Given the description of an element on the screen output the (x, y) to click on. 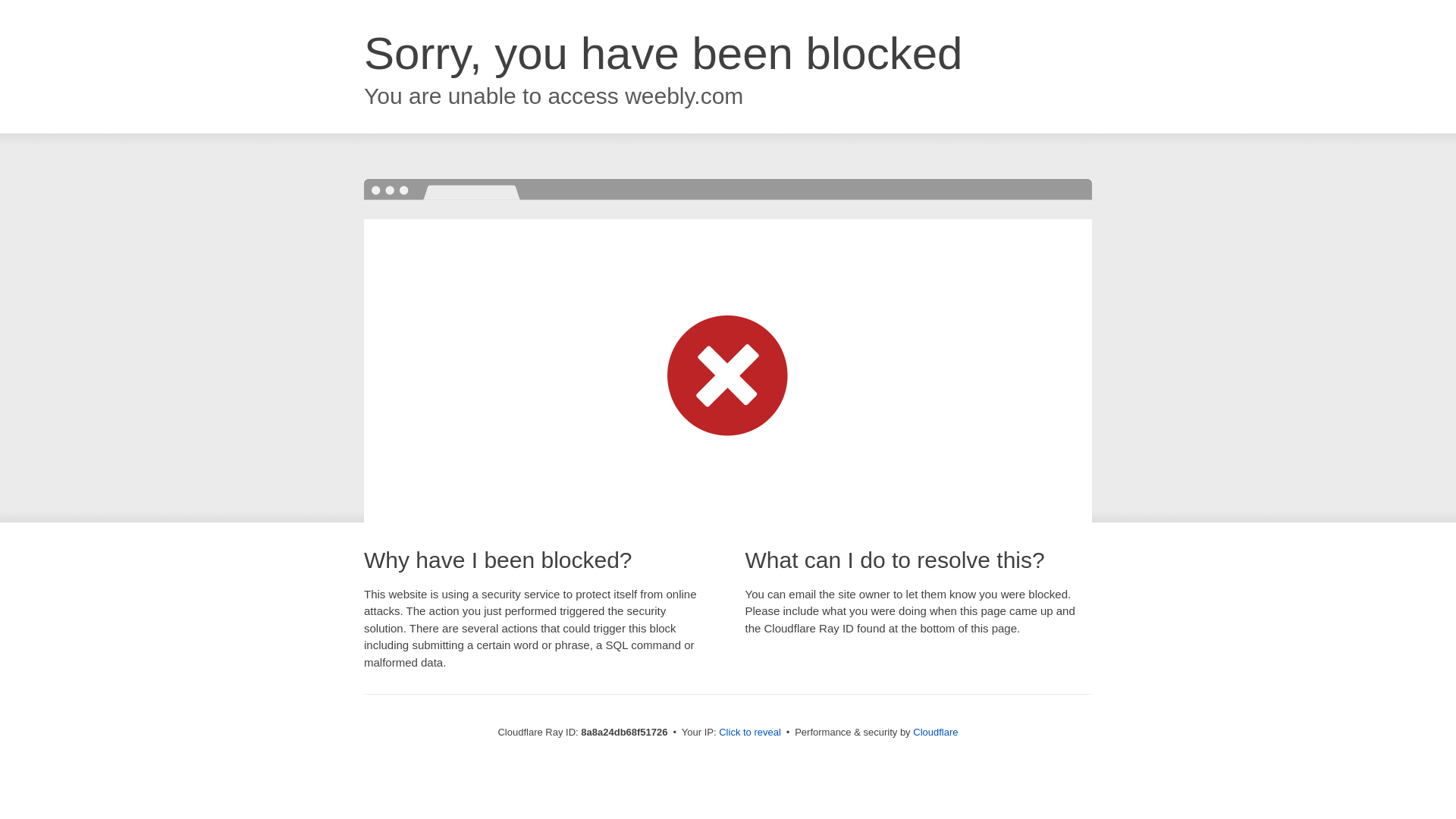
Cloudflare (935, 731)
Click to reveal (749, 732)
